Given the description of an element on the screen output the (x, y) to click on. 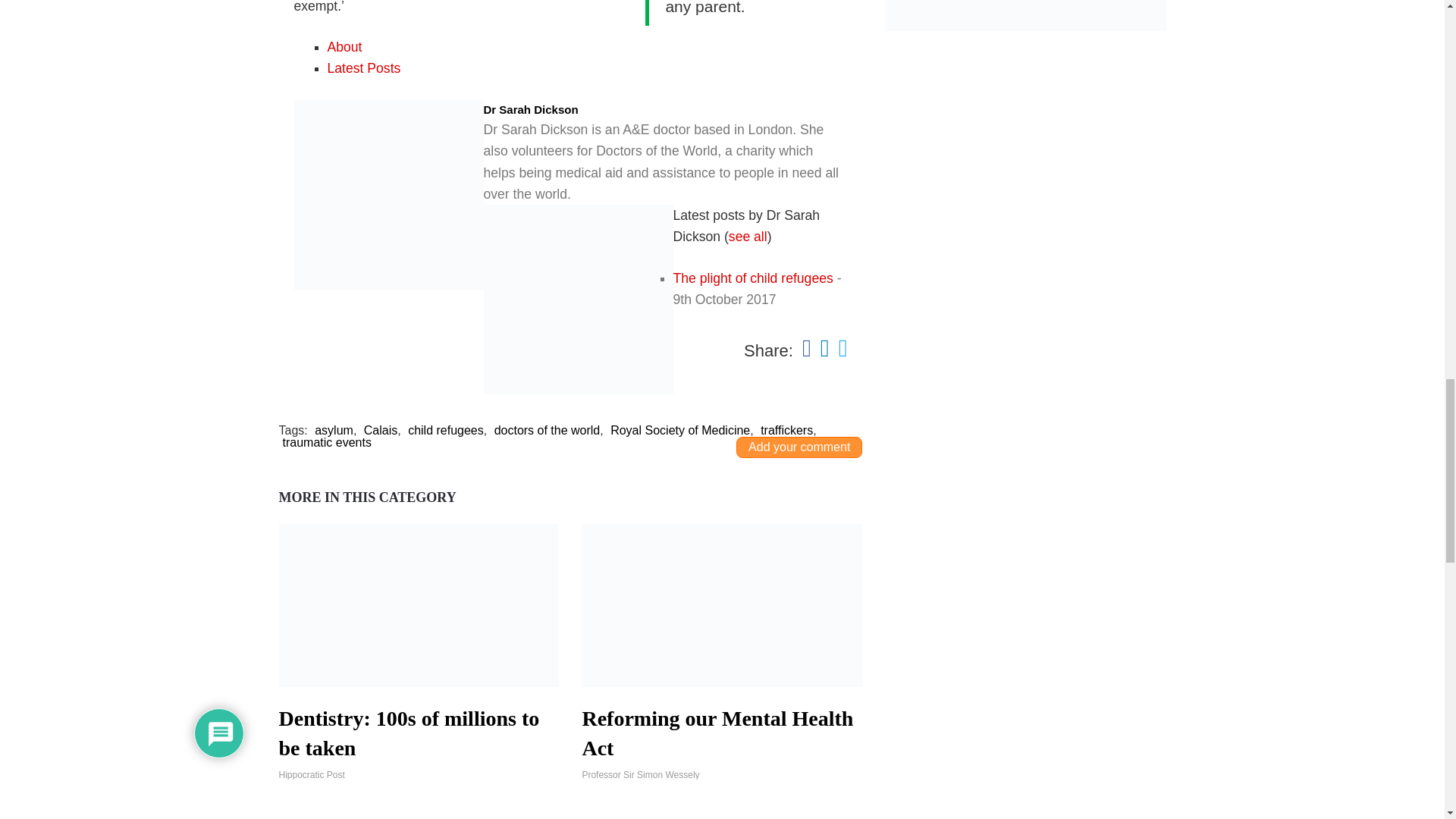
Posts by Hippocratic Post (419, 774)
Dentistry: 100s of millions to be taken (419, 605)
Dentistry: 100s of millions to be taken (419, 732)
Reforming our Mental Health Act (720, 605)
